Given the description of an element on the screen output the (x, y) to click on. 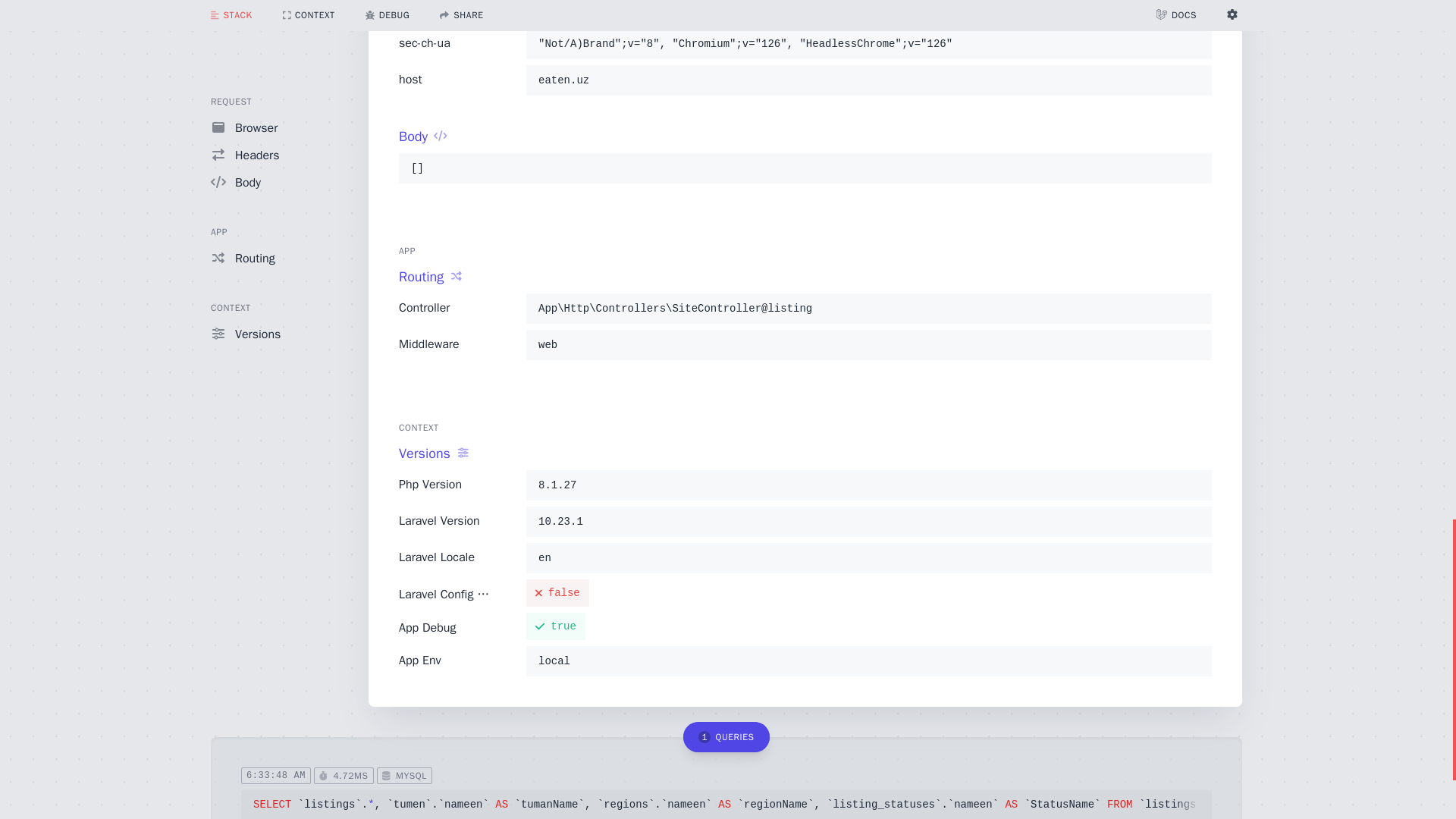
local (868, 660)
?0 (868, 8)
web (868, 343)
eaten.uz (868, 80)
8.1.27 (868, 484)
10.23.1 (868, 521)
en (868, 557)
